Given the description of an element on the screen output the (x, y) to click on. 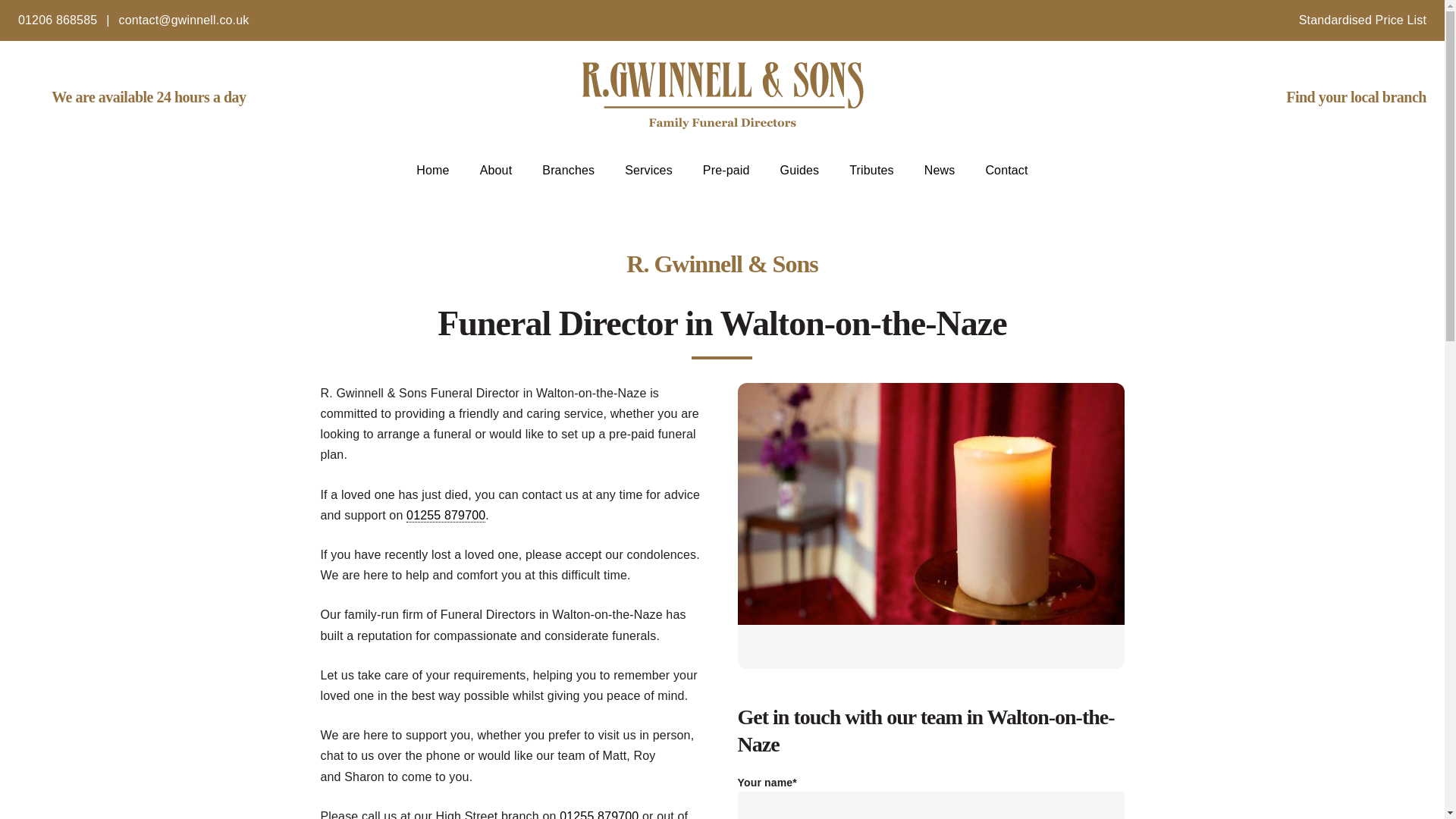
Standardised Price List (1362, 20)
Branch locator (1339, 98)
Find your local branch (1339, 98)
Services (648, 170)
News (939, 170)
01206 868585 (57, 20)
Tributes (870, 170)
Guides (799, 170)
Home (432, 170)
Contact (1006, 170)
